Given the description of an element on the screen output the (x, y) to click on. 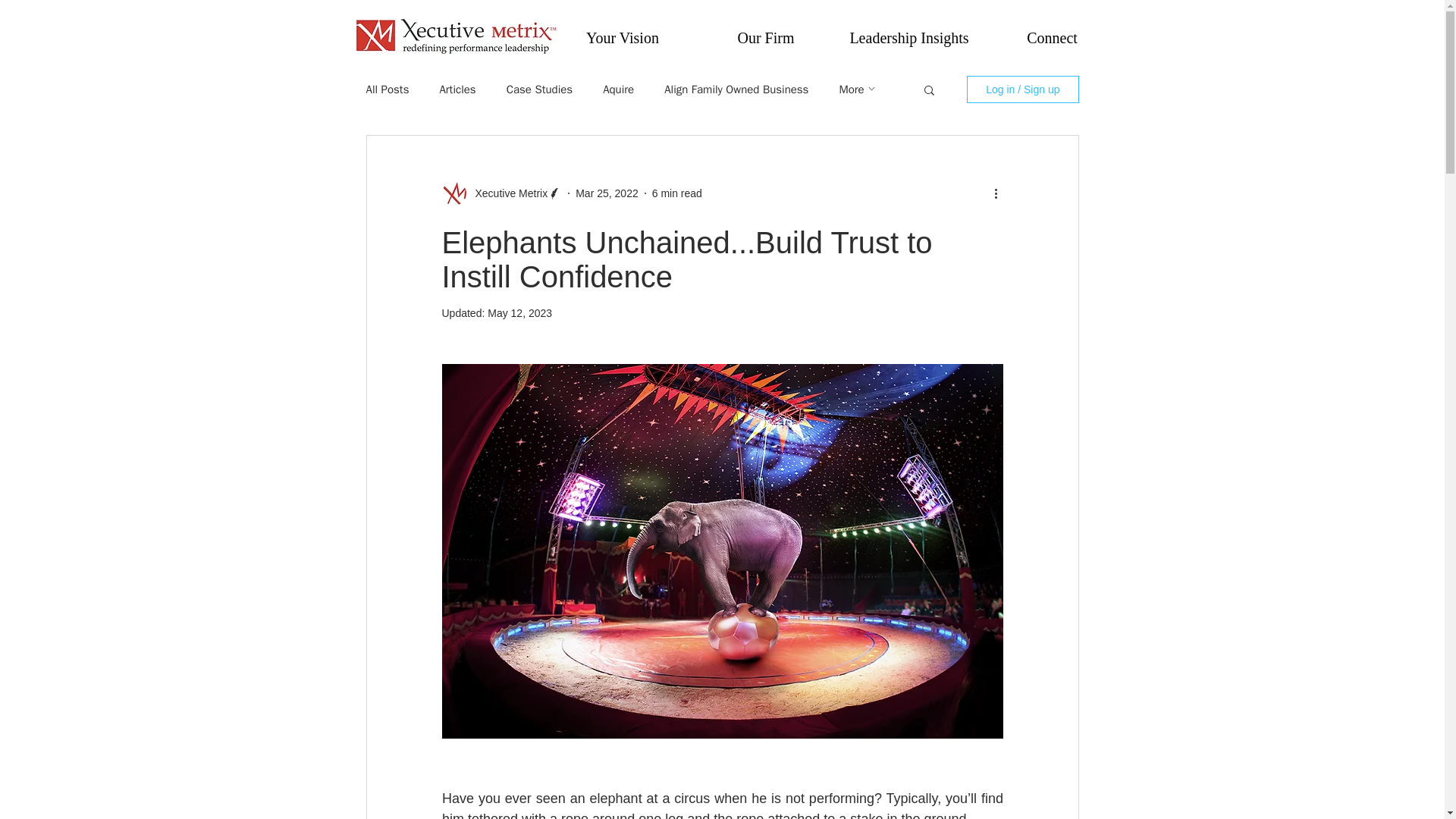
May 12, 2023 (519, 313)
Align Family Owned Business (735, 88)
Xecutive Metrix (506, 192)
Your Vision (622, 37)
Mar 25, 2022 (607, 192)
6 min read (676, 192)
Our Firm (766, 37)
Aquire (617, 88)
Articles (457, 88)
Connect (1052, 37)
Leadership Insights (908, 37)
Case Studies (539, 88)
All Posts (387, 88)
